Given the description of an element on the screen output the (x, y) to click on. 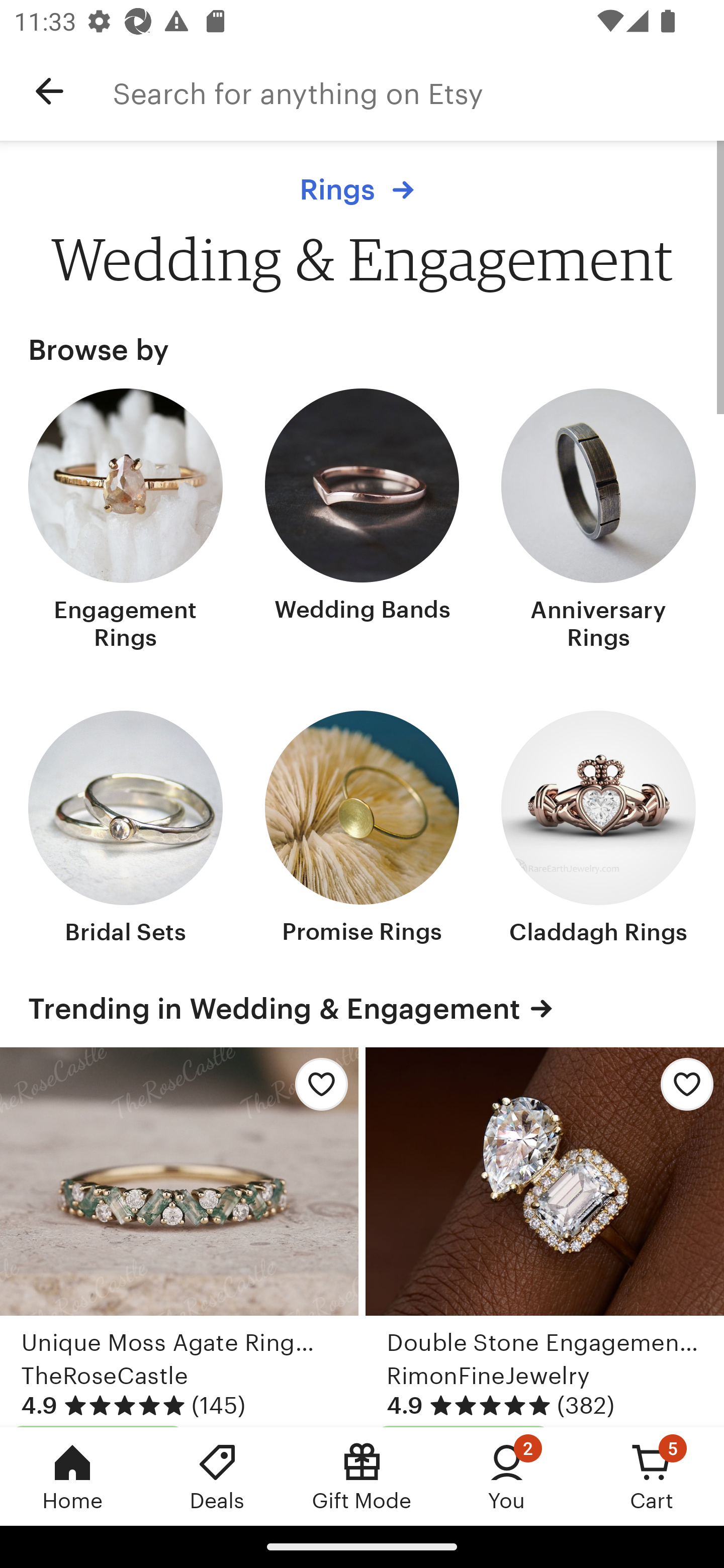
Navigate up (49, 91)
Search for anything on Etsy (418, 91)
Rings (361, 189)
Engagement Rings (125, 520)
Wedding Bands (361, 520)
Anniversary Rings (598, 520)
Bridal Sets (125, 829)
Promise Rings (361, 829)
Claddagh Rings (598, 829)
Trending in Wedding & Engagement  (361, 1008)
Deals (216, 1475)
Gift Mode (361, 1475)
You, 2 new notifications You (506, 1475)
Cart, 5 new notifications Cart (651, 1475)
